Given the description of an element on the screen output the (x, y) to click on. 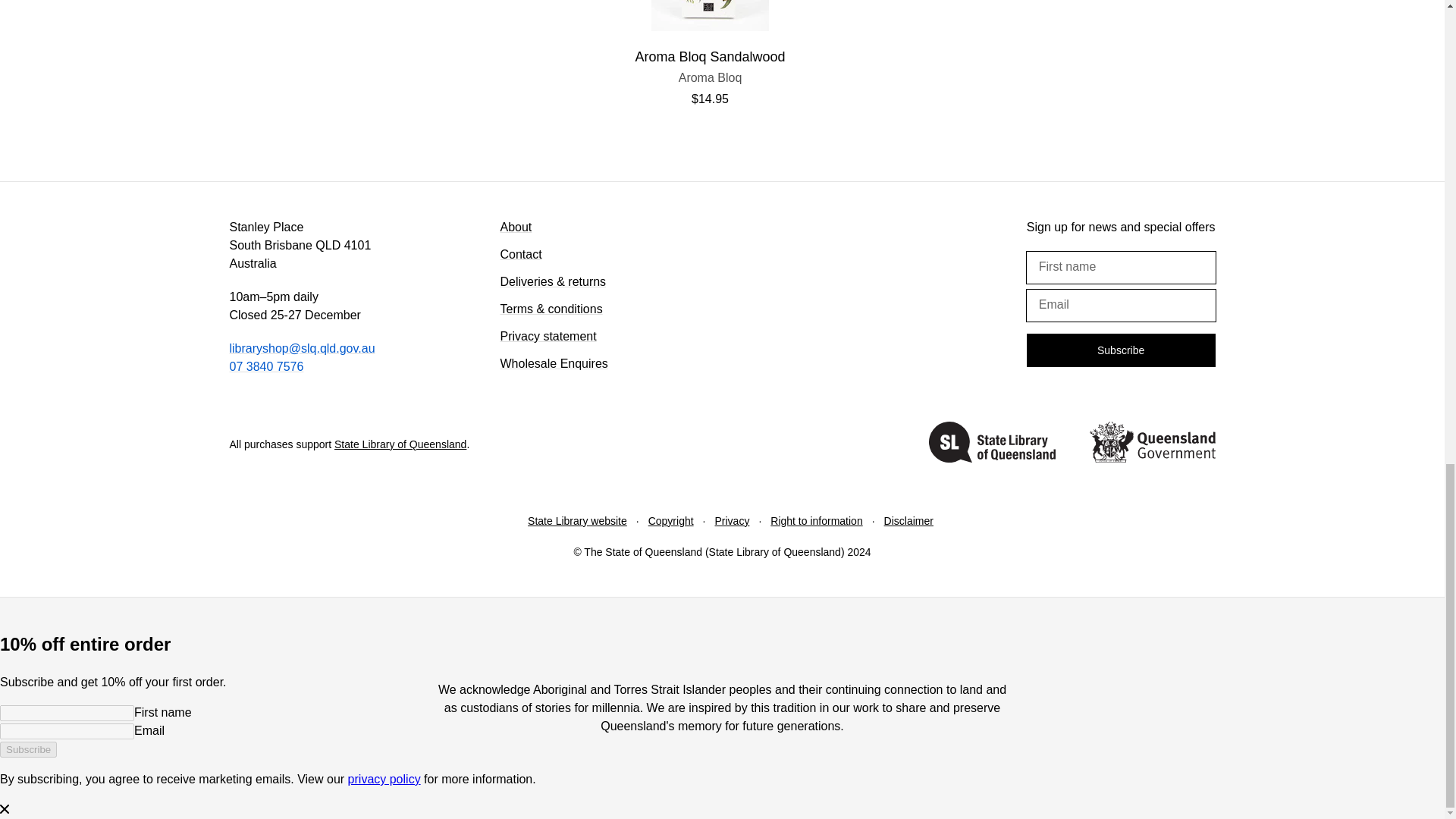
Go to Queensland Government homepage (710, 77)
Go to Queensland State Library homepage (1151, 444)
tel:07 3840 7576 (992, 444)
